Given the description of an element on the screen output the (x, y) to click on. 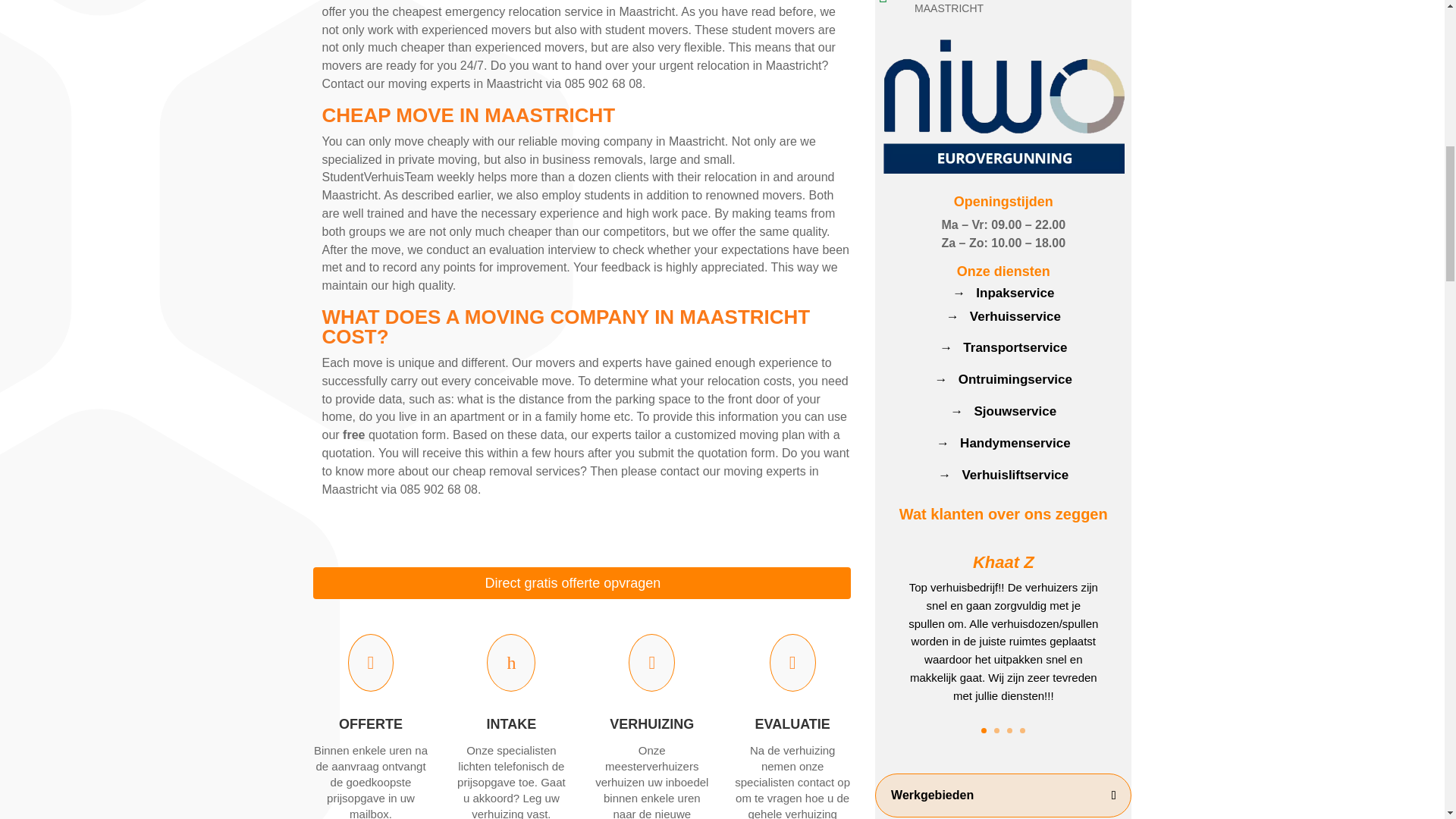
Need company for Moving Maastricht (1003, 106)
Direct gratis offerte opvragen (581, 582)
